Given the description of an element on the screen output the (x, y) to click on. 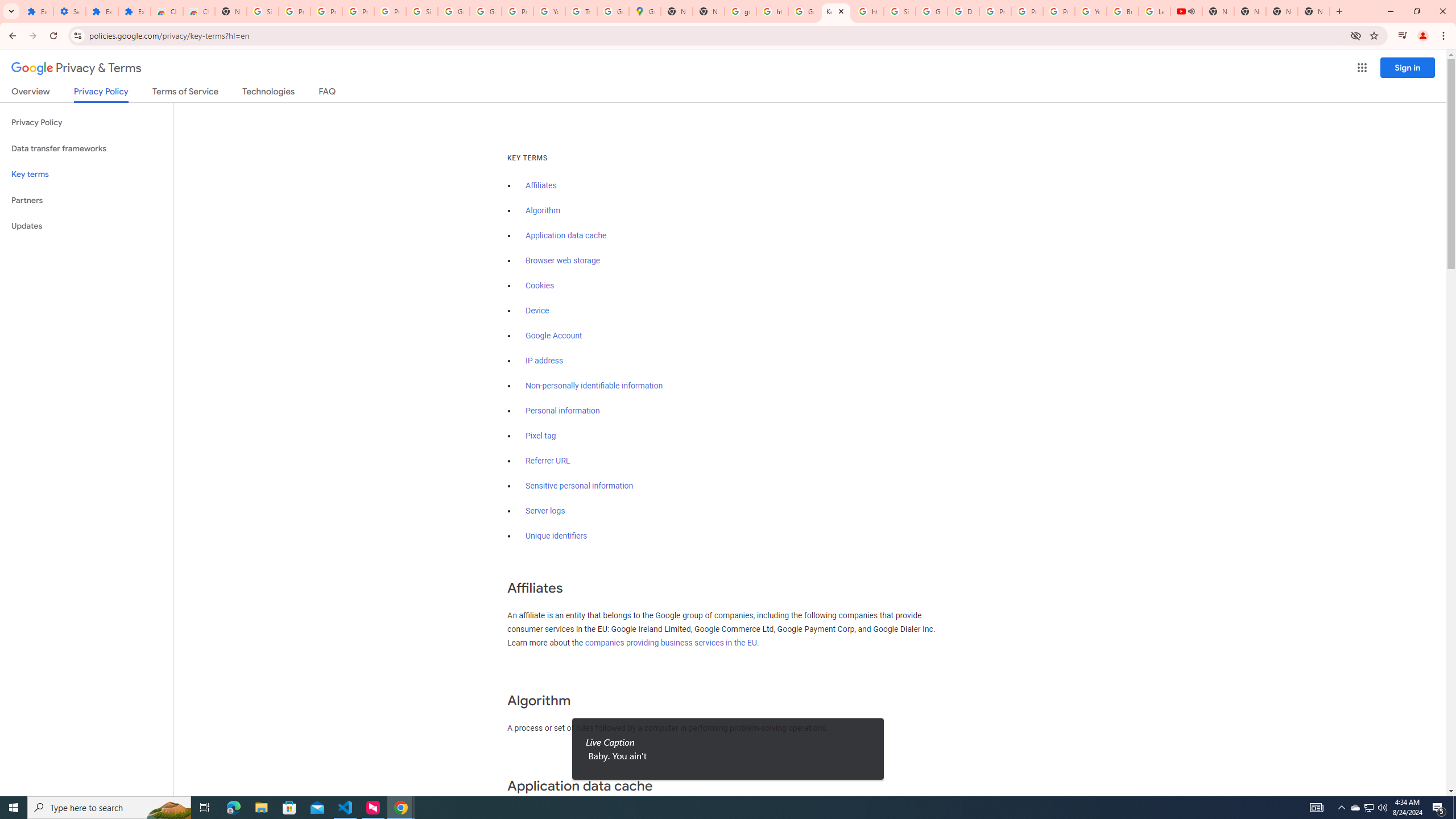
Algorithm (542, 210)
Sensitive personal information (579, 486)
Pixel tag (540, 435)
New Tab (230, 11)
New Tab (1313, 11)
Extensions (101, 11)
